Given the description of an element on the screen output the (x, y) to click on. 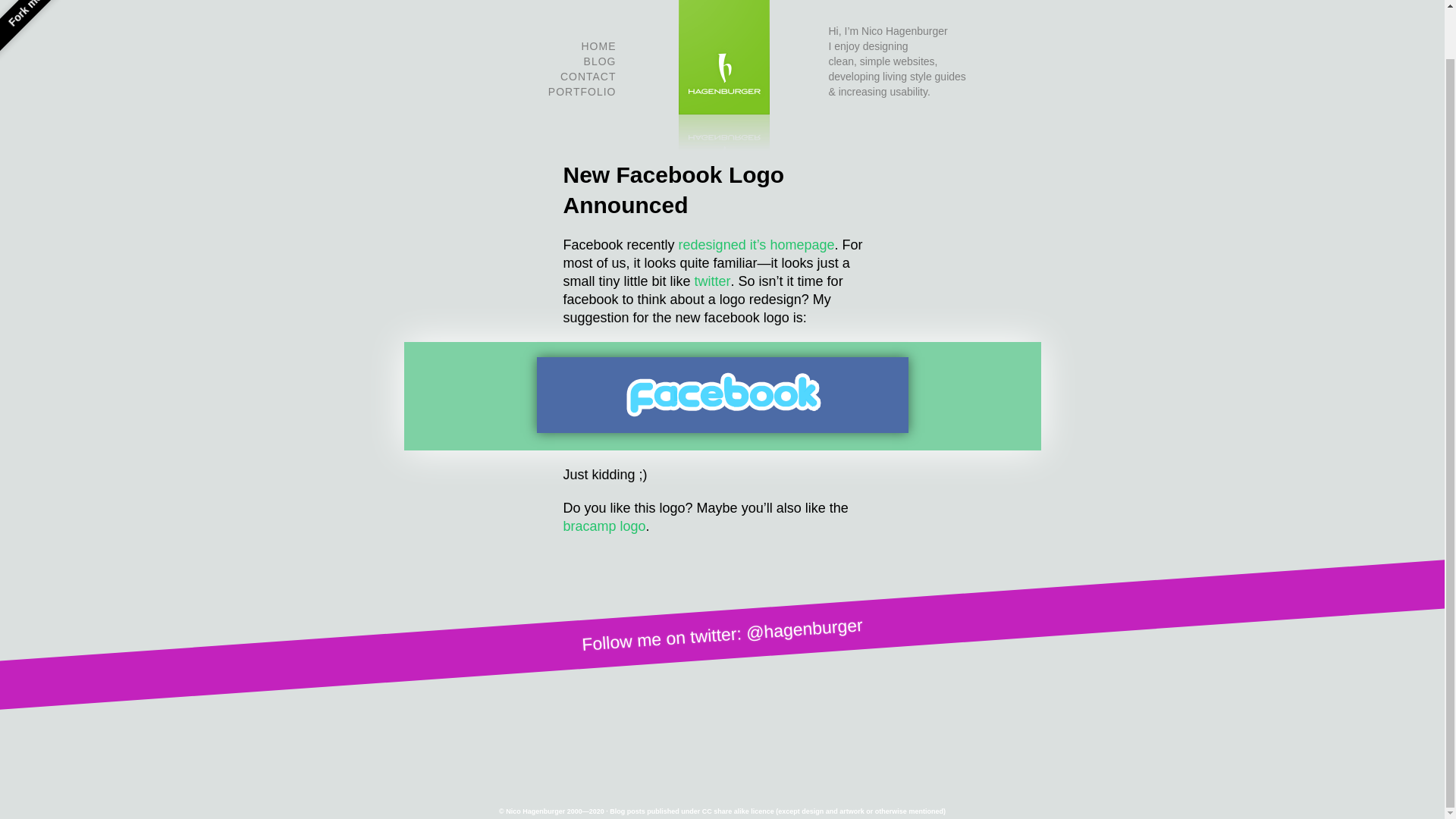
twitter (712, 281)
CONTACT (587, 76)
redesigned (711, 244)
BLOG (599, 61)
PORTFOLIO (581, 91)
homepage (802, 244)
bracamp logo (603, 525)
HOME (597, 46)
